Given the description of an element on the screen output the (x, y) to click on. 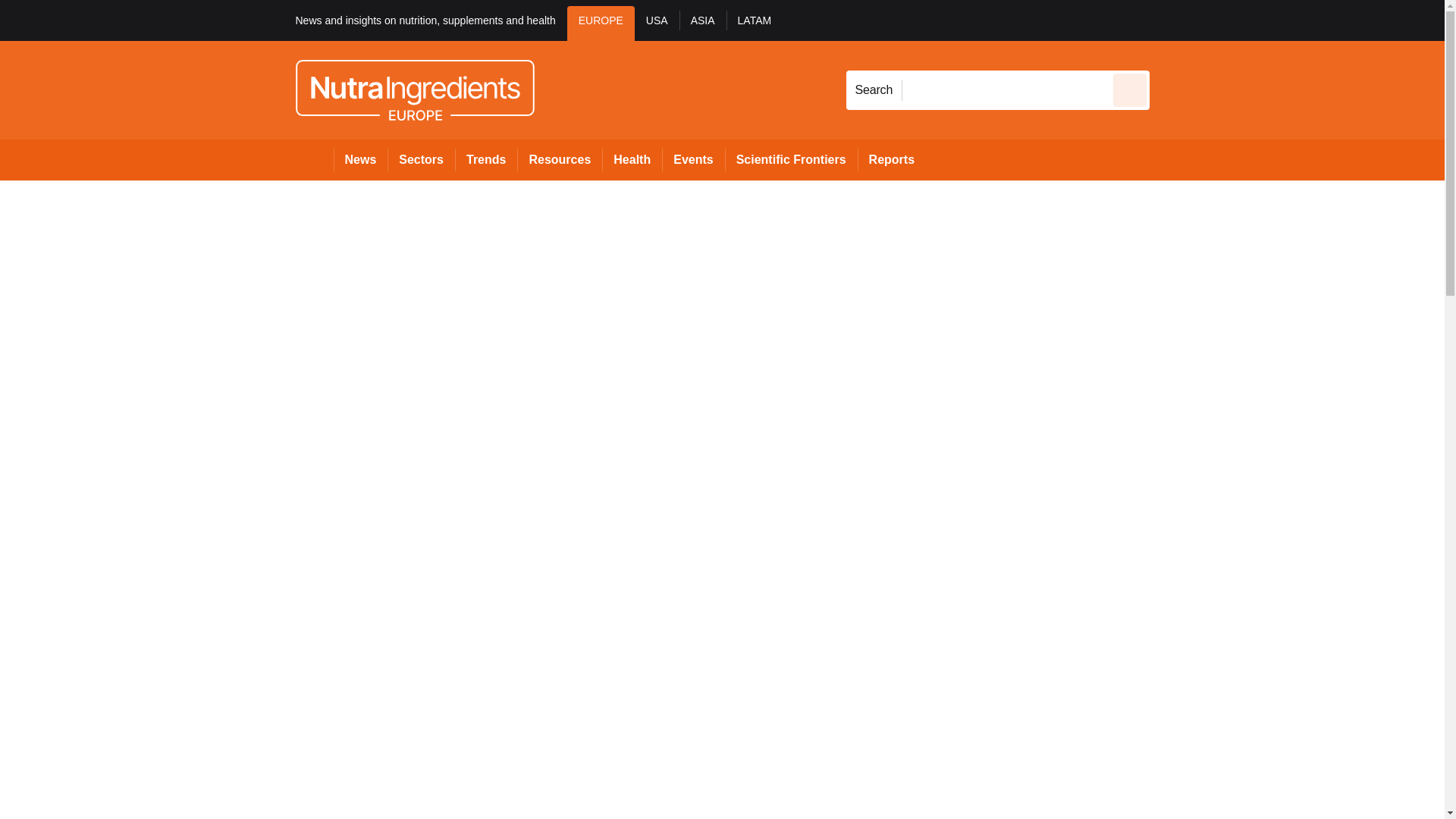
Send (1129, 89)
LATAM (754, 22)
Home (313, 159)
Register (1231, 20)
EUROPE (600, 22)
ASIA (702, 22)
USA (656, 22)
Send (1129, 90)
Home (314, 159)
Sign in (1171, 20)
